Given the description of an element on the screen output the (x, y) to click on. 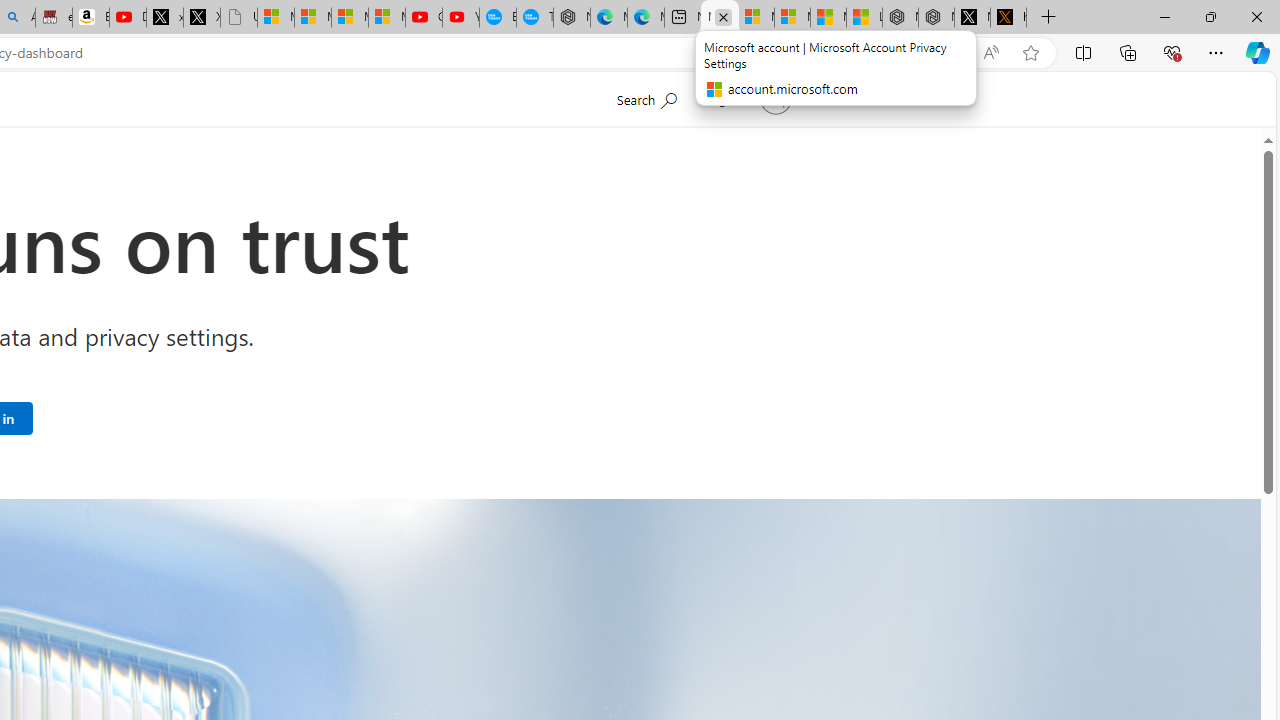
Search Microsoft.com (646, 97)
Untitled (239, 17)
Nordace (@NordaceOfficial) / X (971, 17)
